Given the description of an element on the screen output the (x, y) to click on. 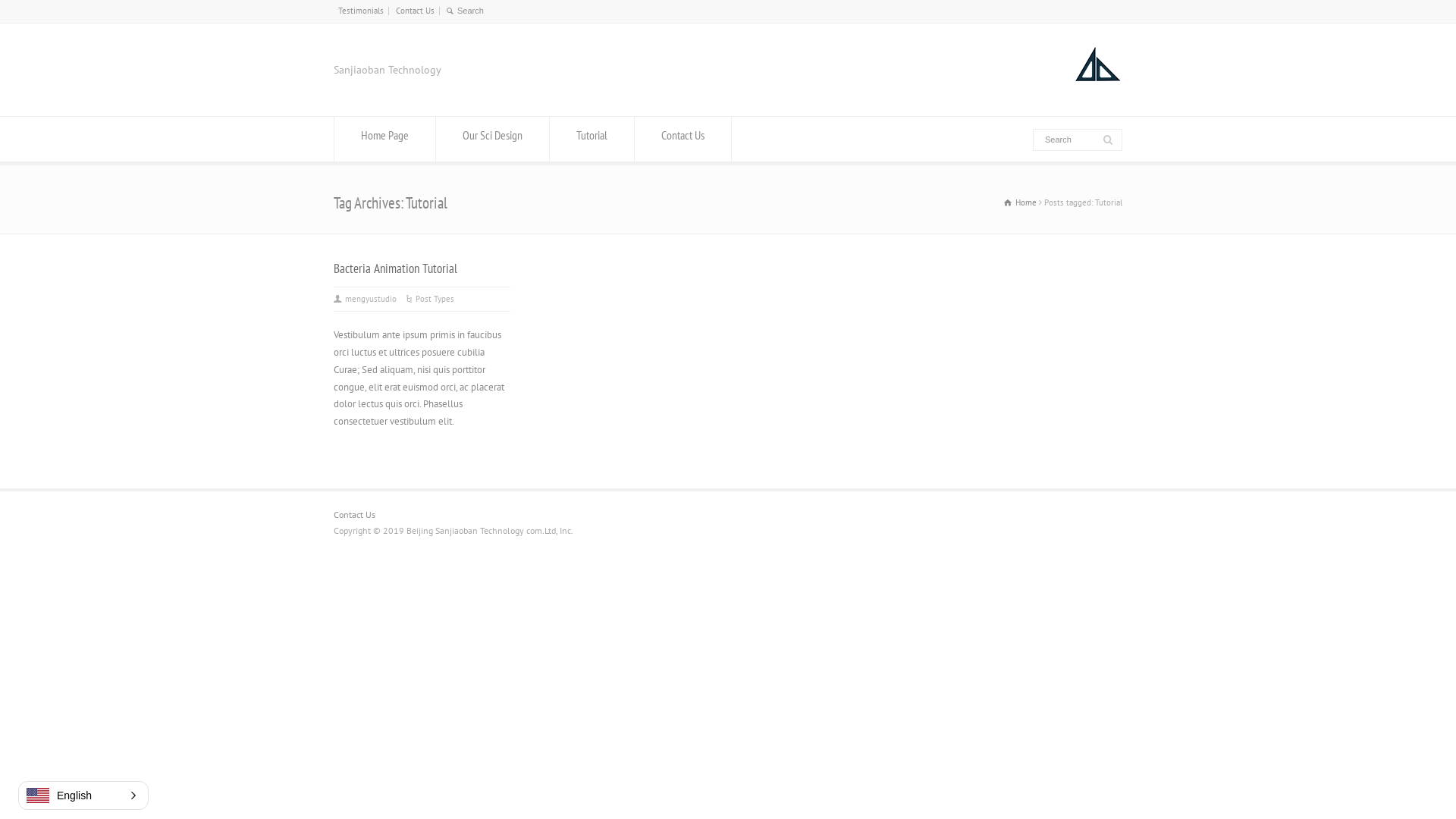
Home Page
  Element type: text (384, 138)
SanJiaoBan Technology Element type: hover (1097, 87)
Contact Us
  Element type: text (682, 138)
mengyustudio Element type: text (370, 298)
Tutorial
  Element type: text (591, 138)
Testimonials Element type: text (360, 10)
Our Sci Design
  Element type: text (492, 138)
Contact Us Element type: text (414, 10)
Contact Us Element type: text (354, 514)
Post Types Element type: text (434, 298)
Bacteria Animation Tutorial Element type: text (395, 268)
Home Element type: text (1020, 202)
